Given the description of an element on the screen output the (x, y) to click on. 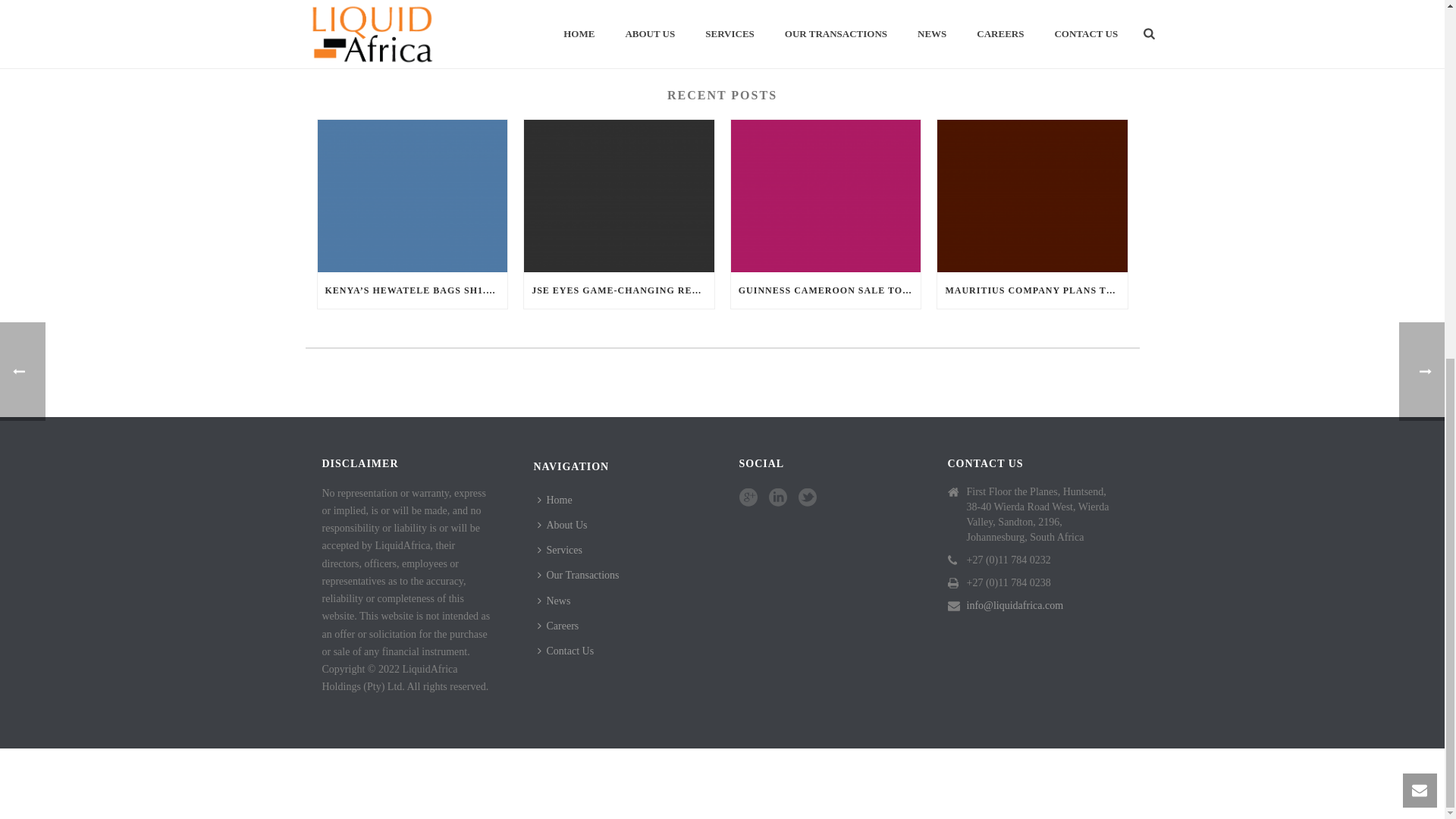
About Us (566, 524)
Follow Us on googleplus (747, 498)
Mauritius company plans to buy off Cipla Quality Chemicals (1031, 195)
MAURITIUS COMPANY PLANS TO BUY OFF CIPLA QUALITY CHEMICALS (1031, 289)
Follow Us on linkedin (777, 498)
Follow Us on twitter (806, 498)
Home (558, 499)
